Given the description of an element on the screen output the (x, y) to click on. 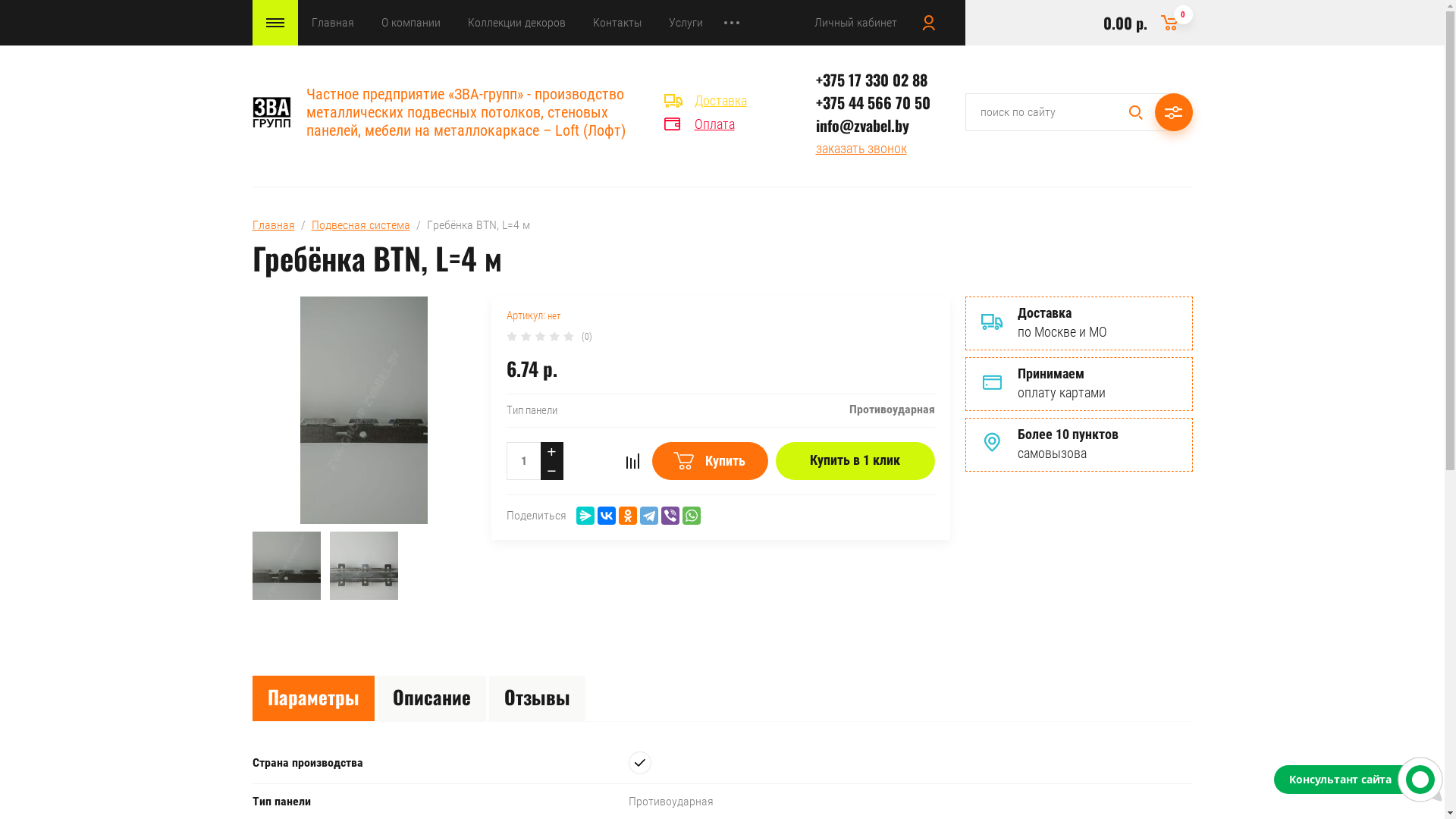
WhatsApp Element type: hover (691, 515)
+375 44 566 70 50 Element type: text (872, 102)
+ Element type: text (550, 451)
+375 17 330 02 88 Element type: text (871, 79)
info@zvabel.by Element type: text (862, 124)
Viber Element type: hover (670, 515)
View More Element type: hover (730, 22)
Telegram Element type: hover (649, 515)
